Given the description of an element on the screen output the (x, y) to click on. 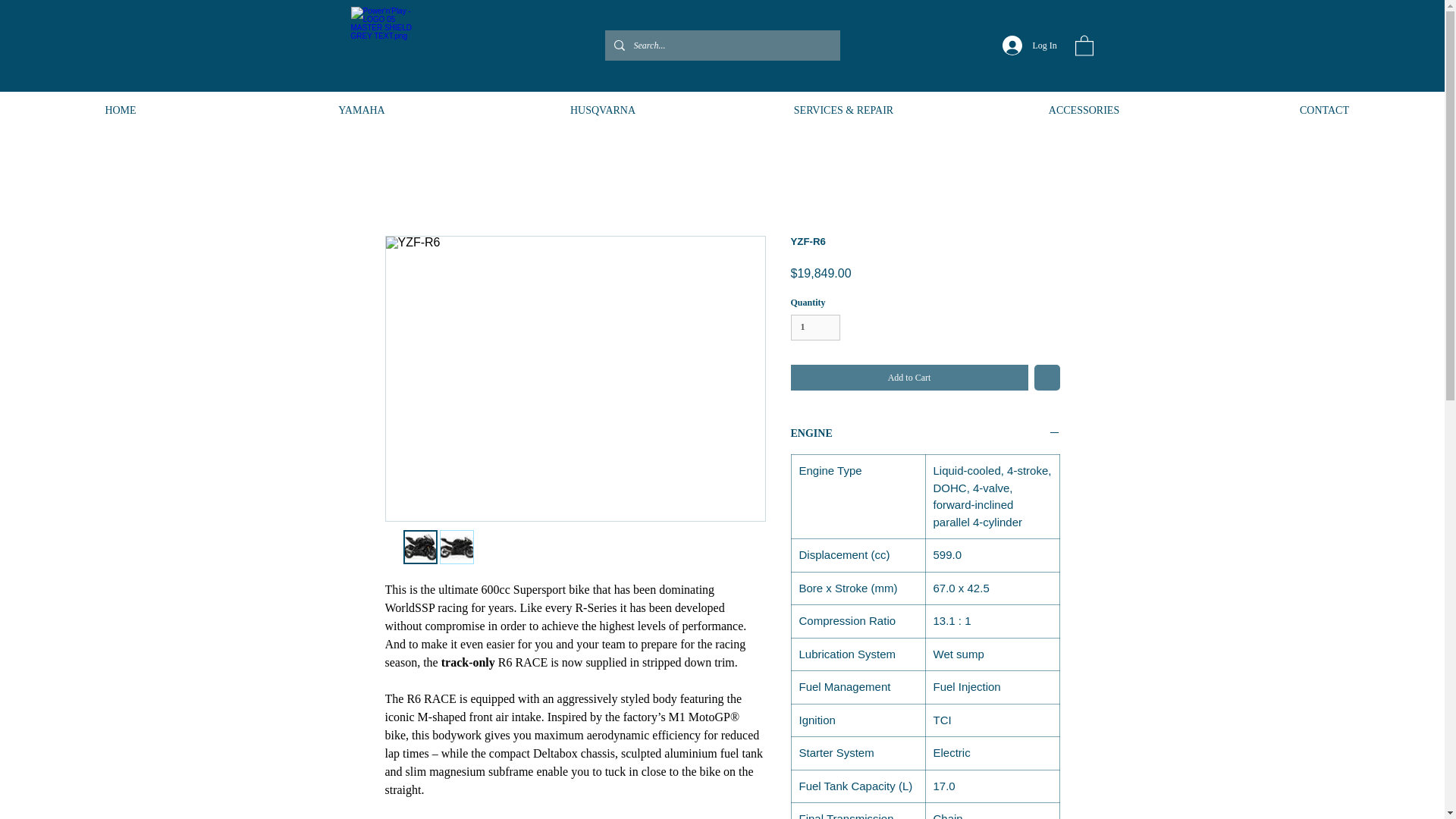
Log In (1024, 45)
HOME (120, 110)
YAMAHA (361, 110)
1 (815, 326)
HUSQVARNA (602, 110)
